Given the description of an element on the screen output the (x, y) to click on. 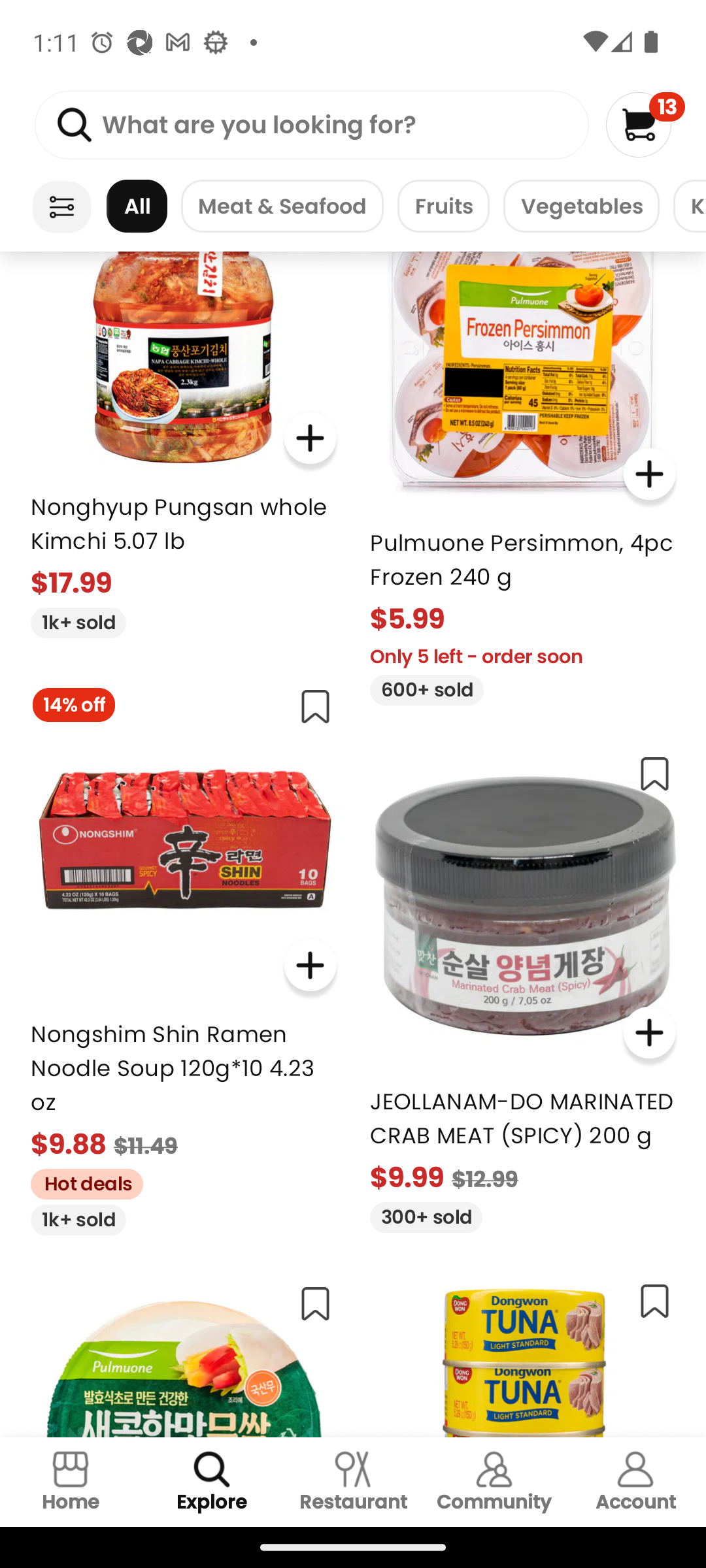
What are you looking for? (311, 124)
13 (644, 124)
All (136, 206)
Meat & Seafood (282, 206)
Fruits (443, 206)
Vegetables (581, 206)
Hot deals (79, 1181)
Home (70, 1482)
Explore (211, 1482)
Restaurant (352, 1482)
Community (493, 1482)
Account (635, 1482)
